Given the description of an element on the screen output the (x, y) to click on. 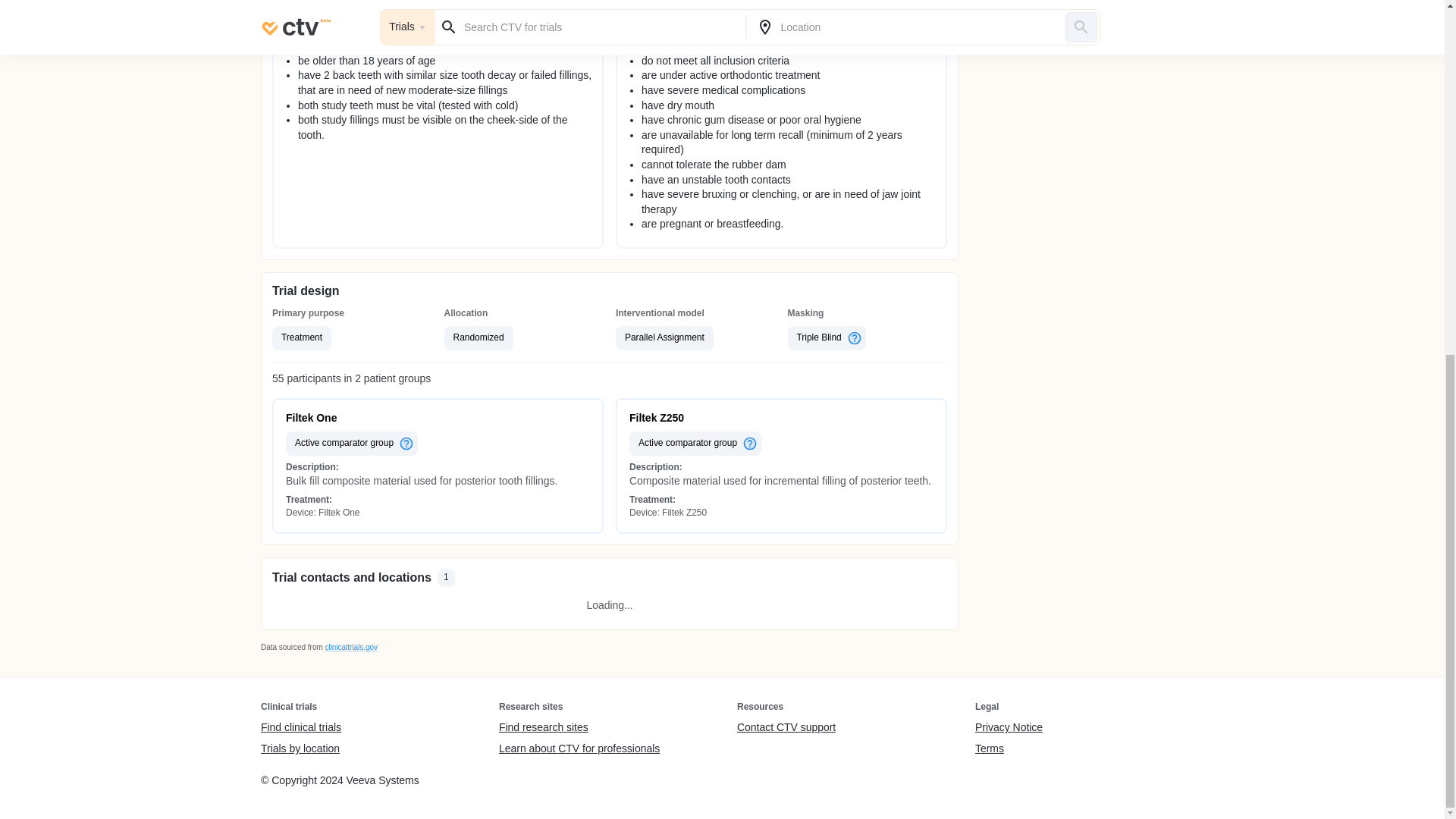
Terms (1008, 748)
Learn about CTV for professionals (579, 748)
clinicaltrials.gov (350, 646)
Find research sites (579, 727)
Contact CTV support (785, 727)
Trials by location (300, 748)
Find clinical trials (300, 727)
Privacy Notice (1008, 727)
